Given the description of an element on the screen output the (x, y) to click on. 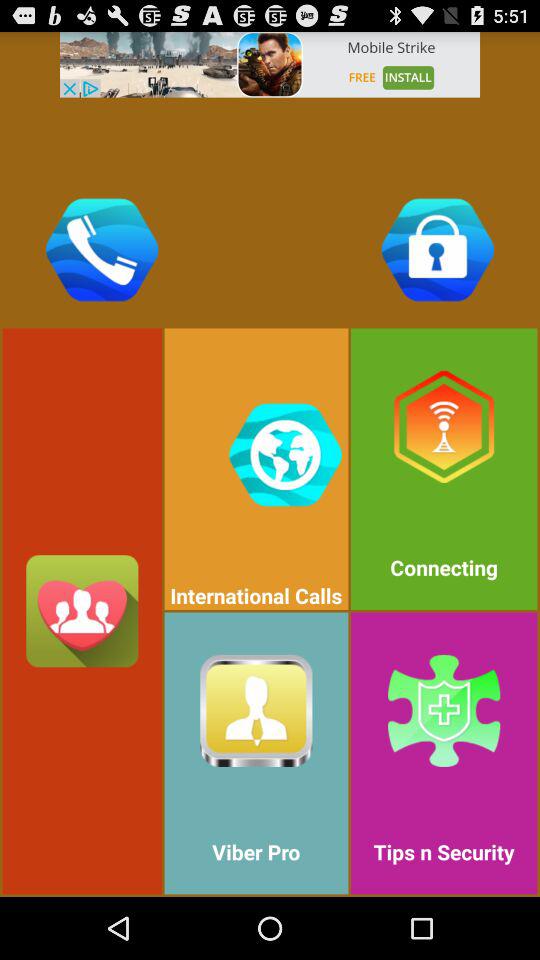
click on phone icon (101, 249)
click on the lock icon (437, 249)
click on button with three persons (81, 610)
click on the symbol which is beside tips n security (255, 710)
